Given the description of an element on the screen output the (x, y) to click on. 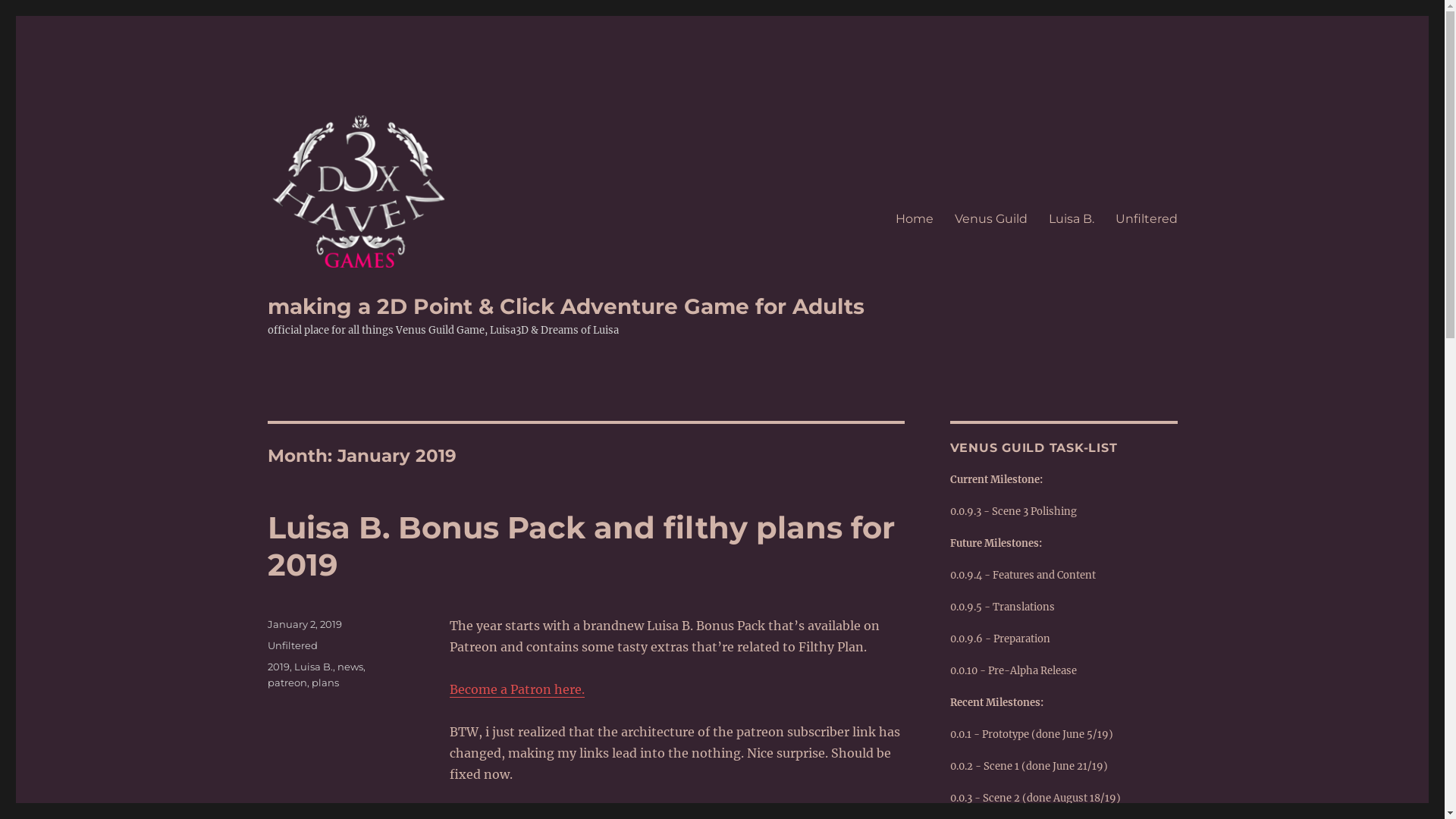
Luisa B. Bonus Pack and filthy plans for 2019 Element type: text (580, 545)
Unfiltered Element type: text (291, 645)
Venus Guild Element type: text (990, 218)
patreon Element type: text (286, 682)
January 2, 2019 Element type: text (303, 624)
news Element type: text (349, 666)
Luisa B. Element type: text (1070, 218)
plans Element type: text (324, 682)
Become a Patron here. Element type: text (515, 688)
Luisa B. Element type: text (313, 666)
making a 2D Point & Click Adventure Game for Adults Element type: text (564, 306)
2019 Element type: text (277, 666)
Unfiltered Element type: text (1145, 218)
Home Element type: text (913, 218)
